Given the description of an element on the screen output the (x, y) to click on. 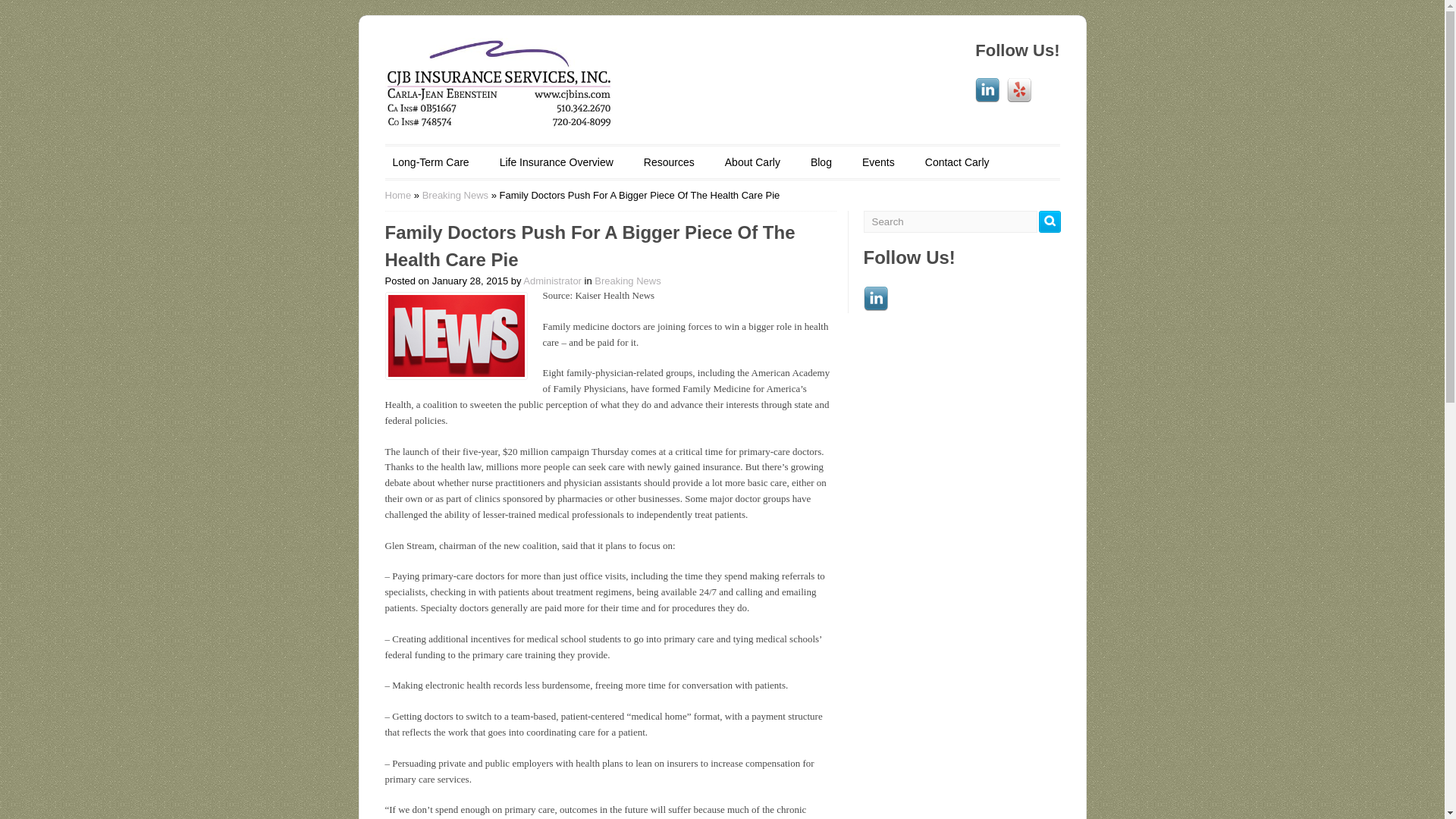
Follow Us on LinkedIn (874, 298)
Resources (668, 162)
About Carly (752, 162)
Administrator (551, 279)
Posts by Administrator (551, 279)
Breaking News (454, 194)
Search (1050, 221)
Contact Carly (957, 162)
Events (878, 162)
Long-Term Care (431, 162)
Breaking News (627, 279)
Life Insurance Overview (556, 162)
Home (398, 194)
Follow Us on LinkedIn (986, 89)
Follow Us on Yelp (1018, 89)
